Given the description of an element on the screen output the (x, y) to click on. 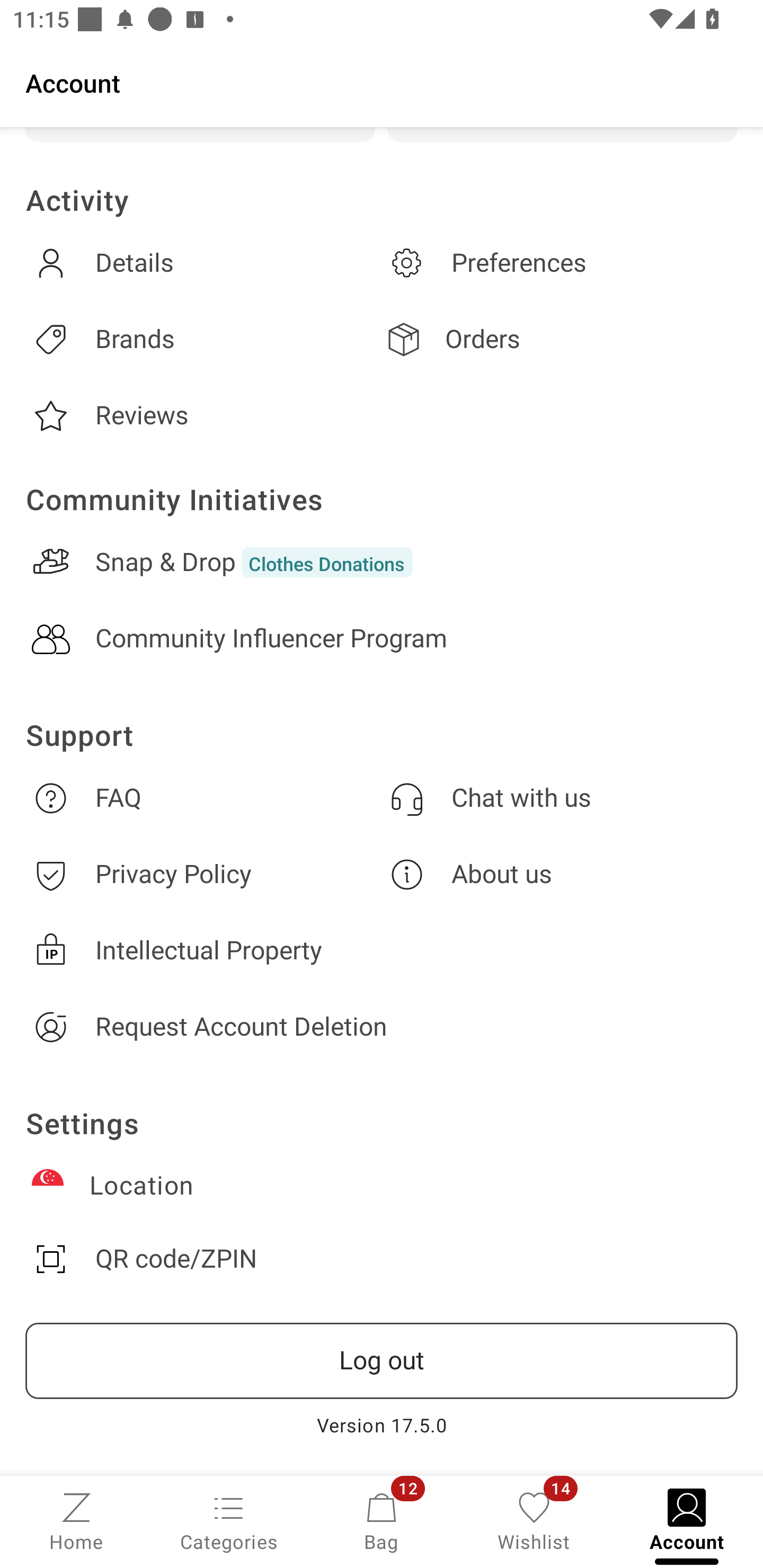
Account (381, 82)
Details (203, 263)
Preferences (559, 263)
Brands (203, 339)
Orders (559, 339)
Reviews (203, 415)
Snap & DropClothes Donations (381, 561)
Community Influencer Program (381, 638)
FAQ (203, 797)
Chat with us (559, 797)
Privacy Policy (203, 873)
About us (559, 873)
Intellectual Property (381, 950)
Request Account Deletion (381, 1026)
QR code/ZPIN (381, 1258)
Log out (381, 1360)
Home (76, 1519)
Categories (228, 1519)
Bag, 12 new notifications Bag (381, 1519)
Wishlist, 14 new notifications Wishlist (533, 1519)
